Given the description of an element on the screen output the (x, y) to click on. 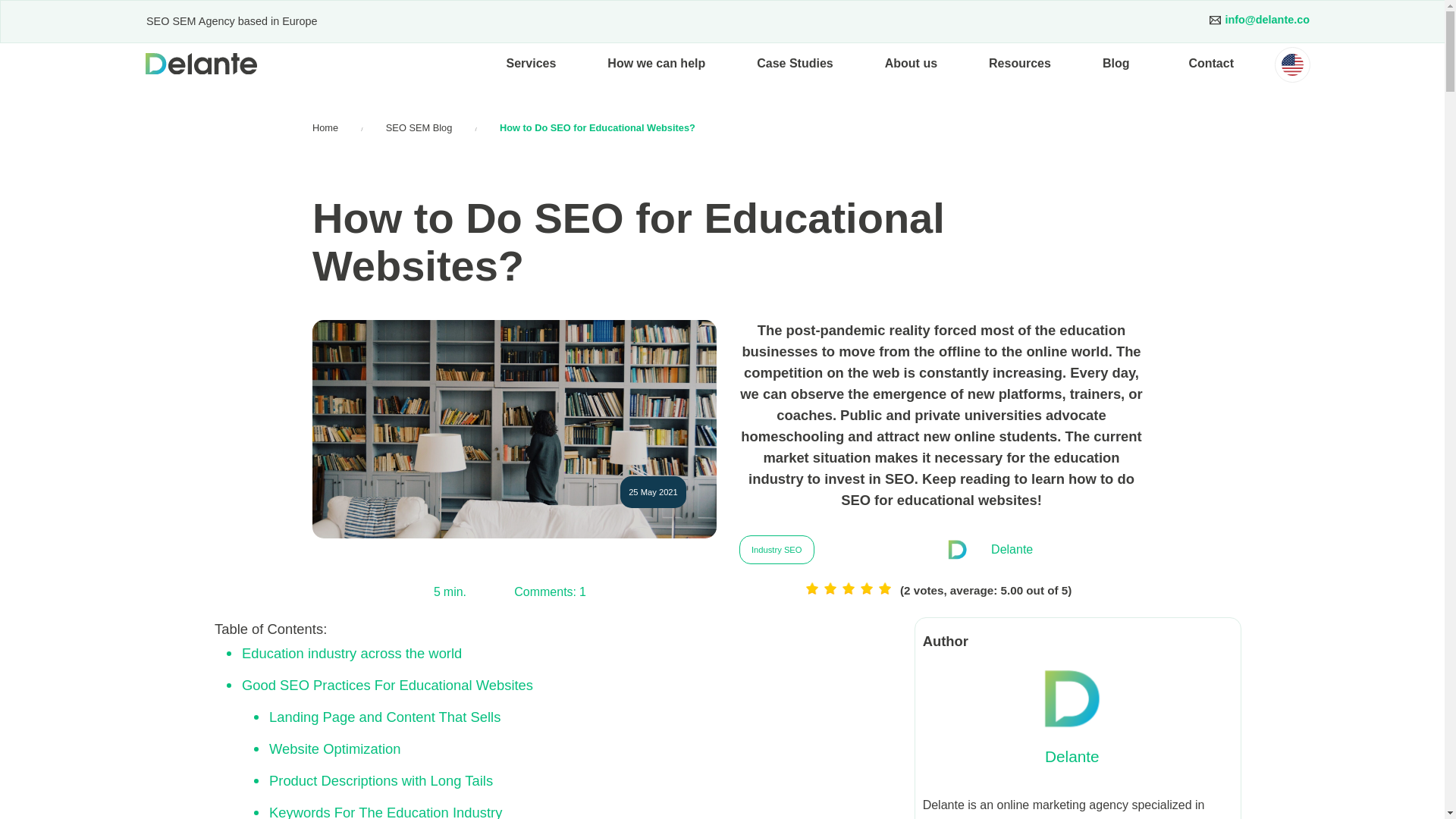
How we can help (656, 63)
English (1292, 65)
Services (530, 63)
